Given the description of an element on the screen output the (x, y) to click on. 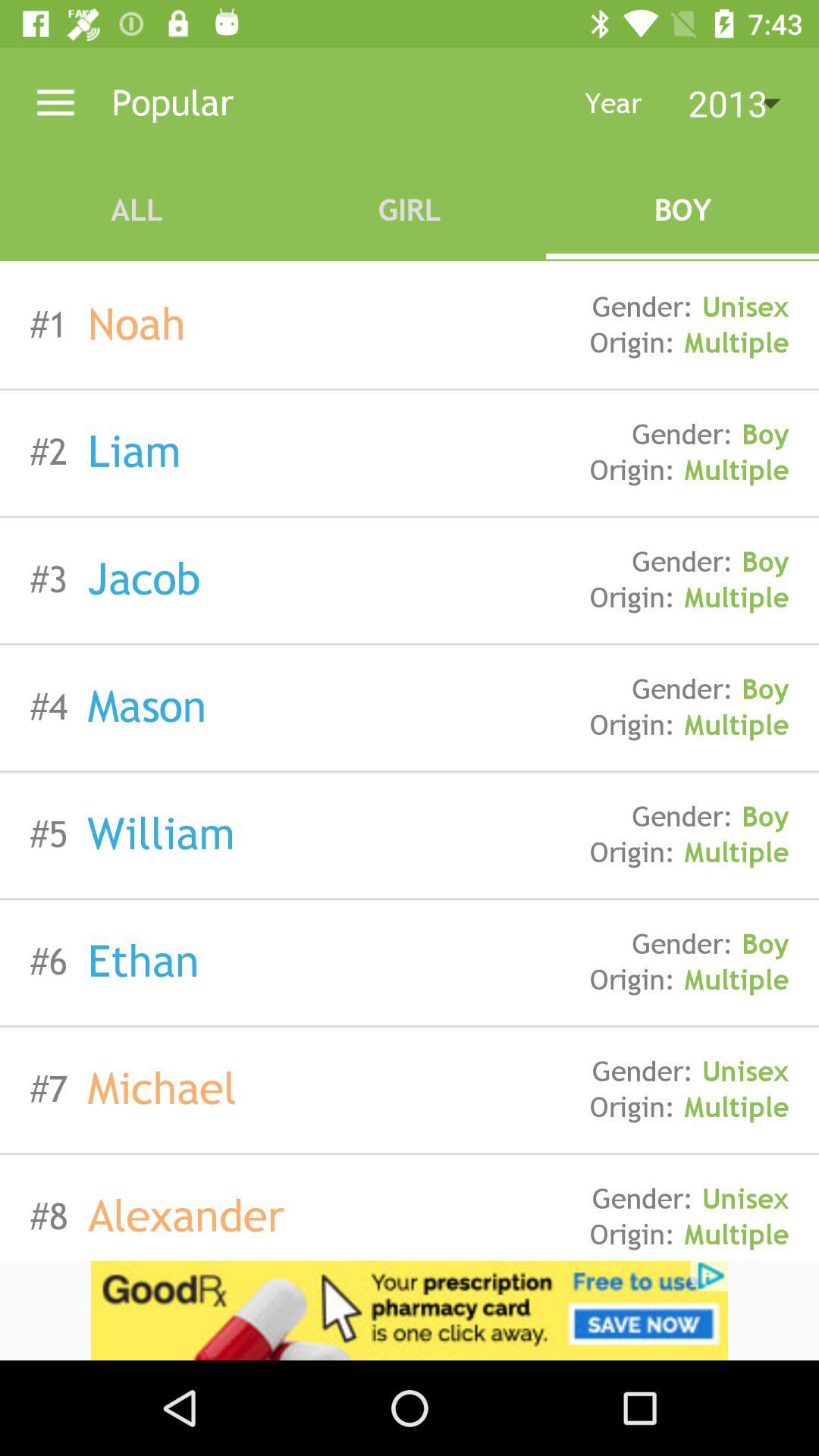
advertising pop up banner (409, 1310)
